Given the description of an element on the screen output the (x, y) to click on. 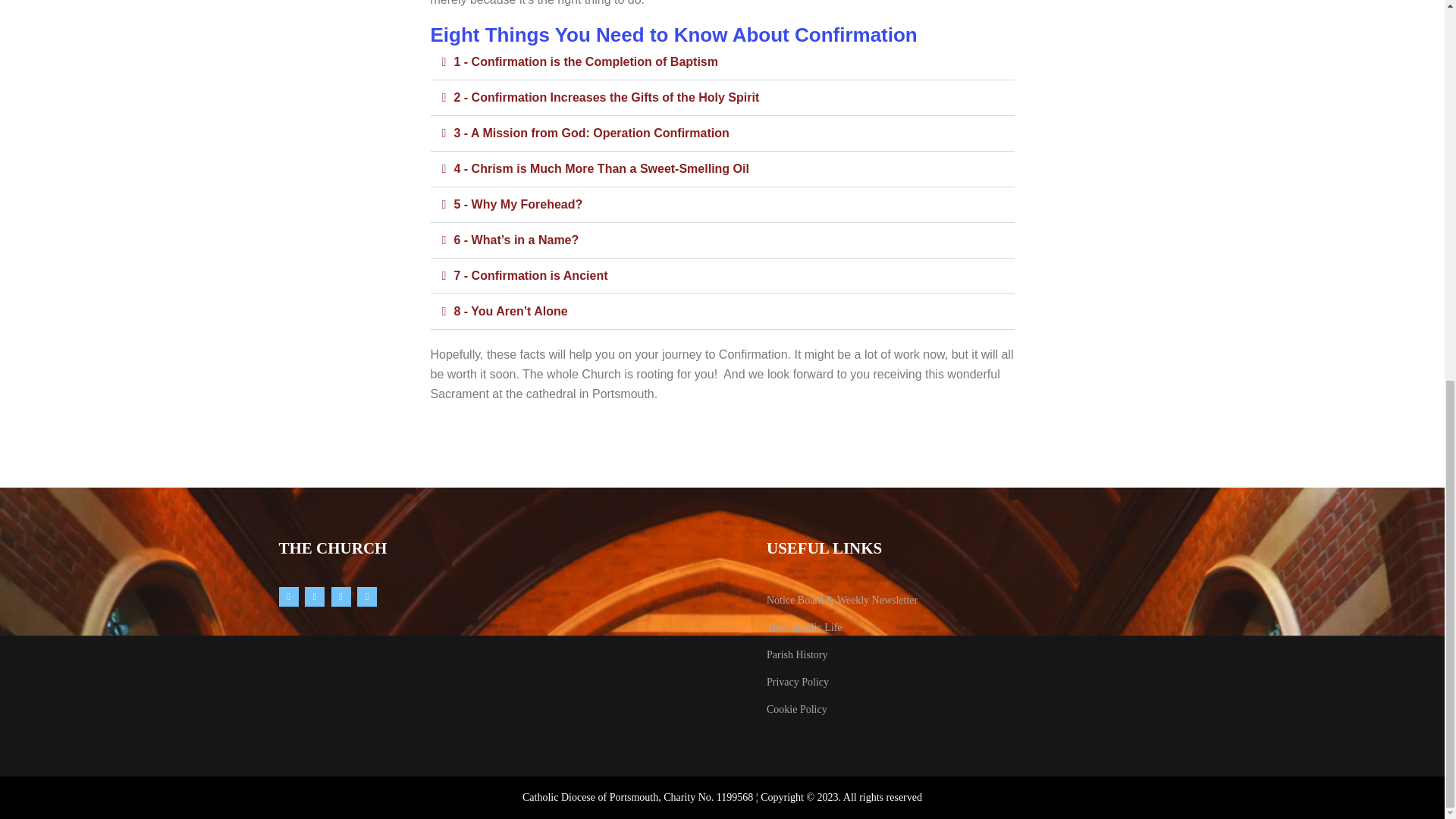
Privacy Policy (797, 682)
5 - Why My Forehead? (517, 204)
fa fa-phone-square (340, 596)
7 - Confirmation is Ancient (529, 275)
3 - A Mission from God: Operation Confirmation (590, 132)
Parish History (797, 655)
fa fa-envelope-open (366, 596)
fa fa-facebook (314, 596)
4 - Chrism is Much More Than a Sweet-Smelling Oil (600, 168)
fa fa-circle-dollar-to-slot (288, 596)
